Given the description of an element on the screen output the (x, y) to click on. 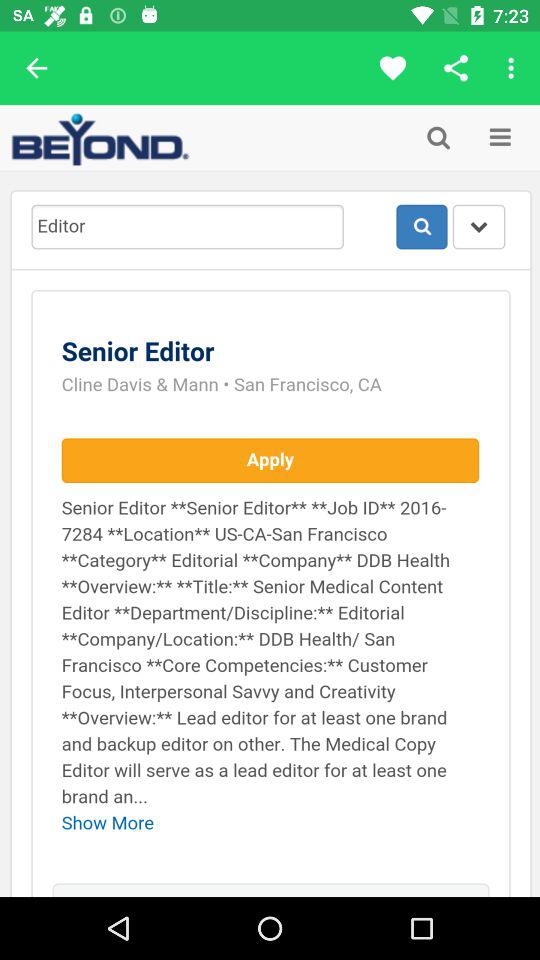
go back (36, 68)
